Given the description of an element on the screen output the (x, y) to click on. 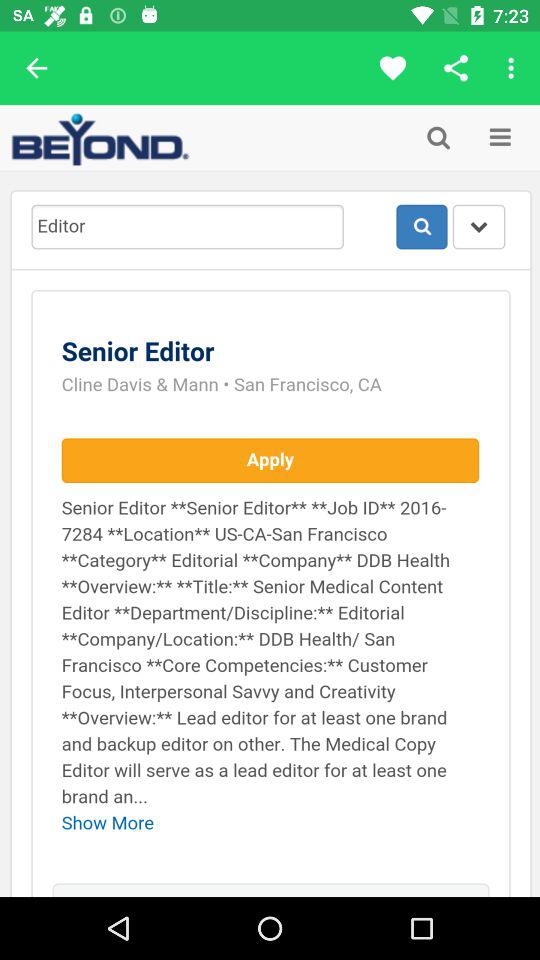
go back (36, 68)
